Given the description of an element on the screen output the (x, y) to click on. 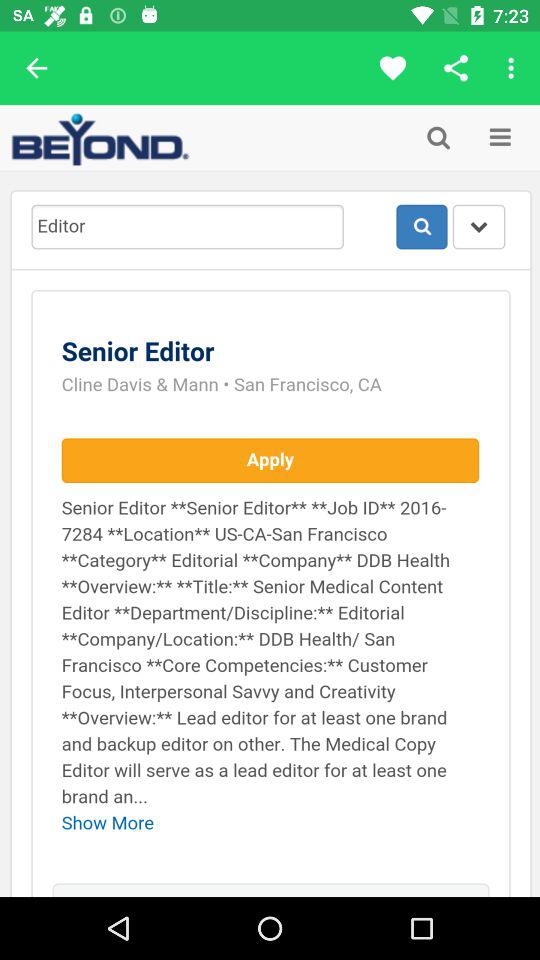
go back (36, 68)
